Given the description of an element on the screen output the (x, y) to click on. 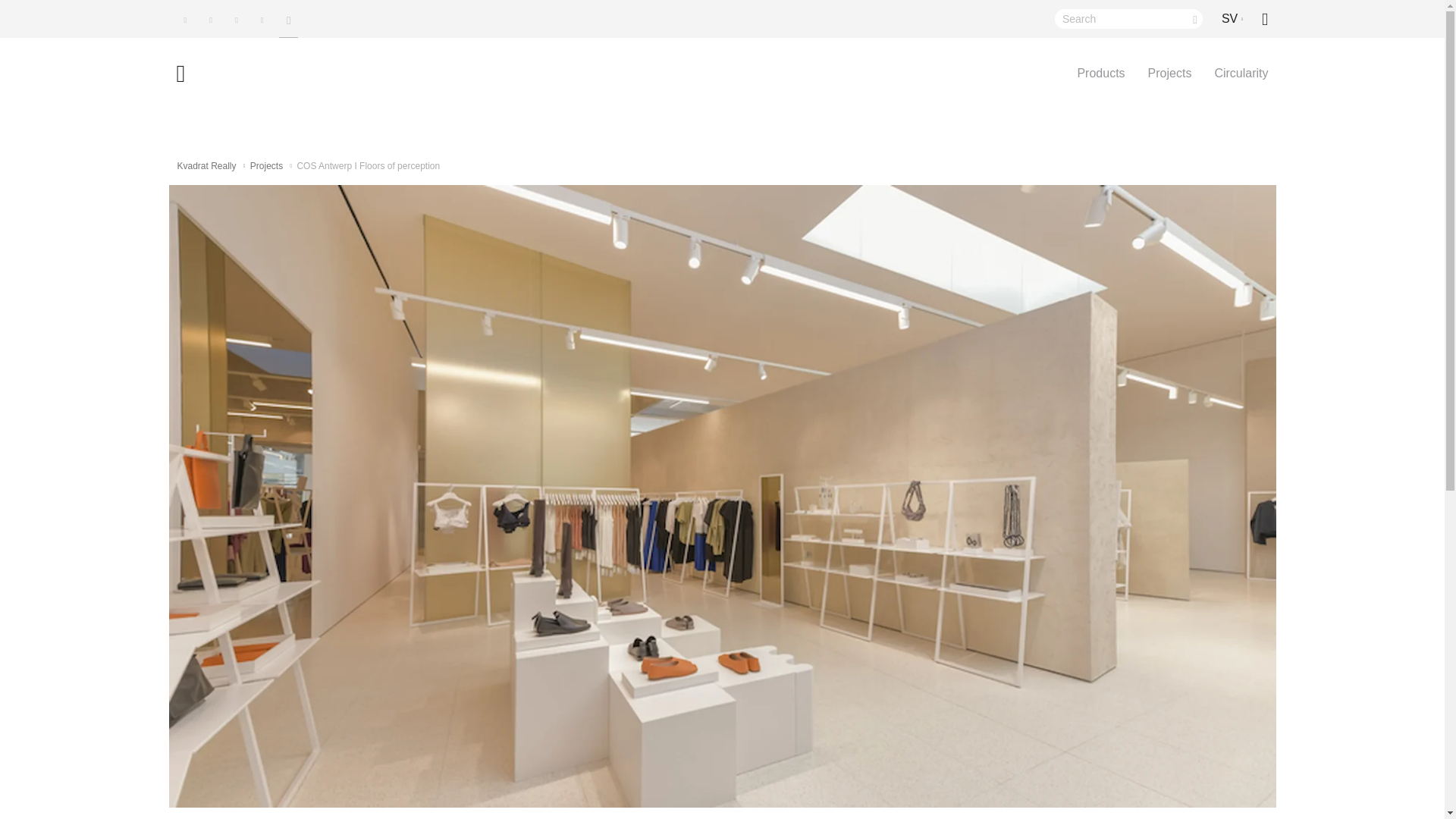
Kvadrat Really (206, 165)
Projects (1162, 73)
Products (1093, 73)
Projects (266, 165)
SV (1231, 18)
Circularity (1234, 73)
